Given the description of an element on the screen output the (x, y) to click on. 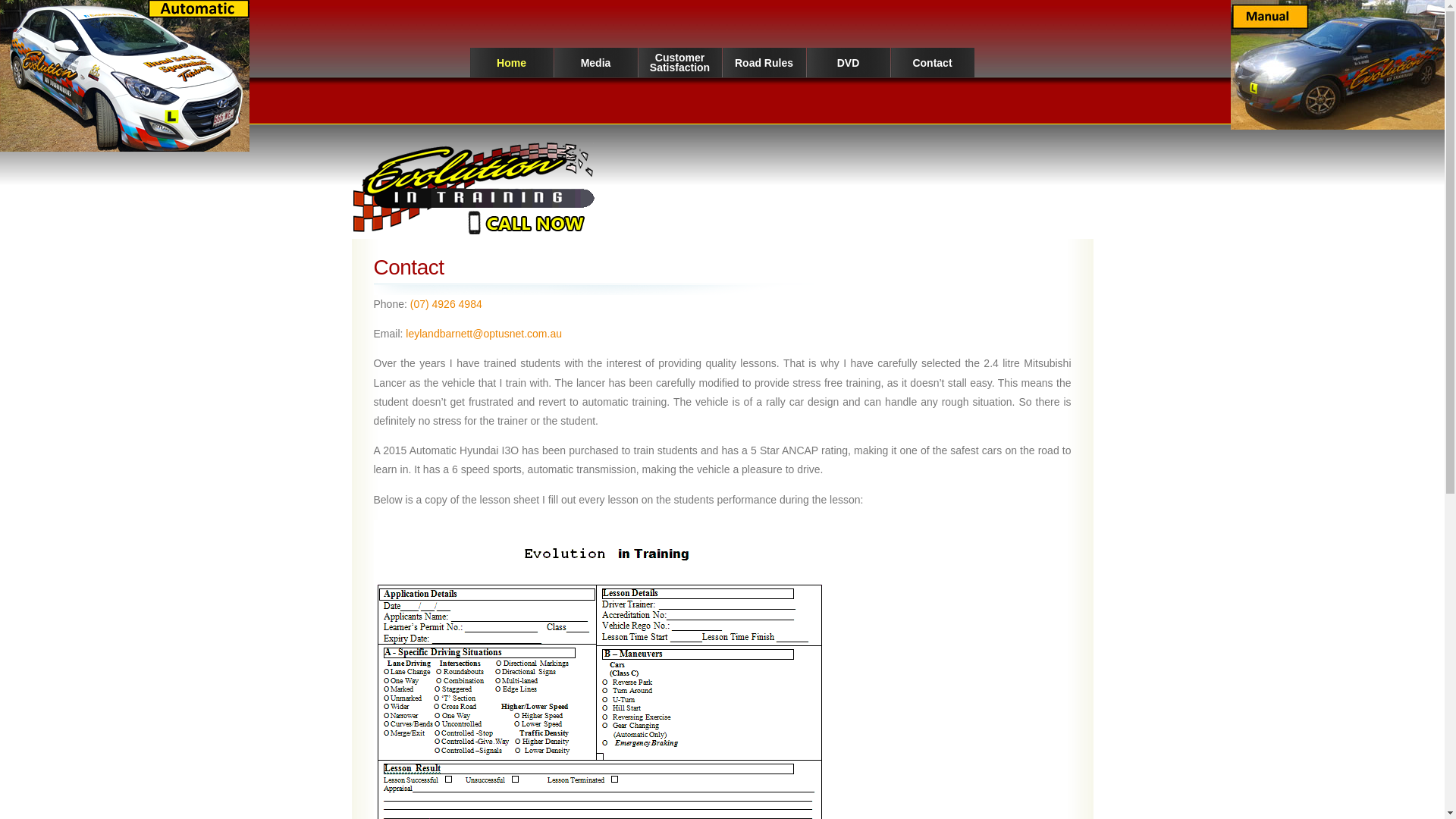
Contact Element type: text (931, 64)
Road Rules Element type: text (763, 64)
leylandbarnett@optusnet.com.au Element type: text (483, 333)
DVD Element type: text (848, 64)
(07) 4926 4984 Element type: text (446, 304)
Customer Satisfaction Element type: text (679, 62)
Media Element type: text (595, 64)
Home Element type: text (511, 64)
